Given the description of an element on the screen output the (x, y) to click on. 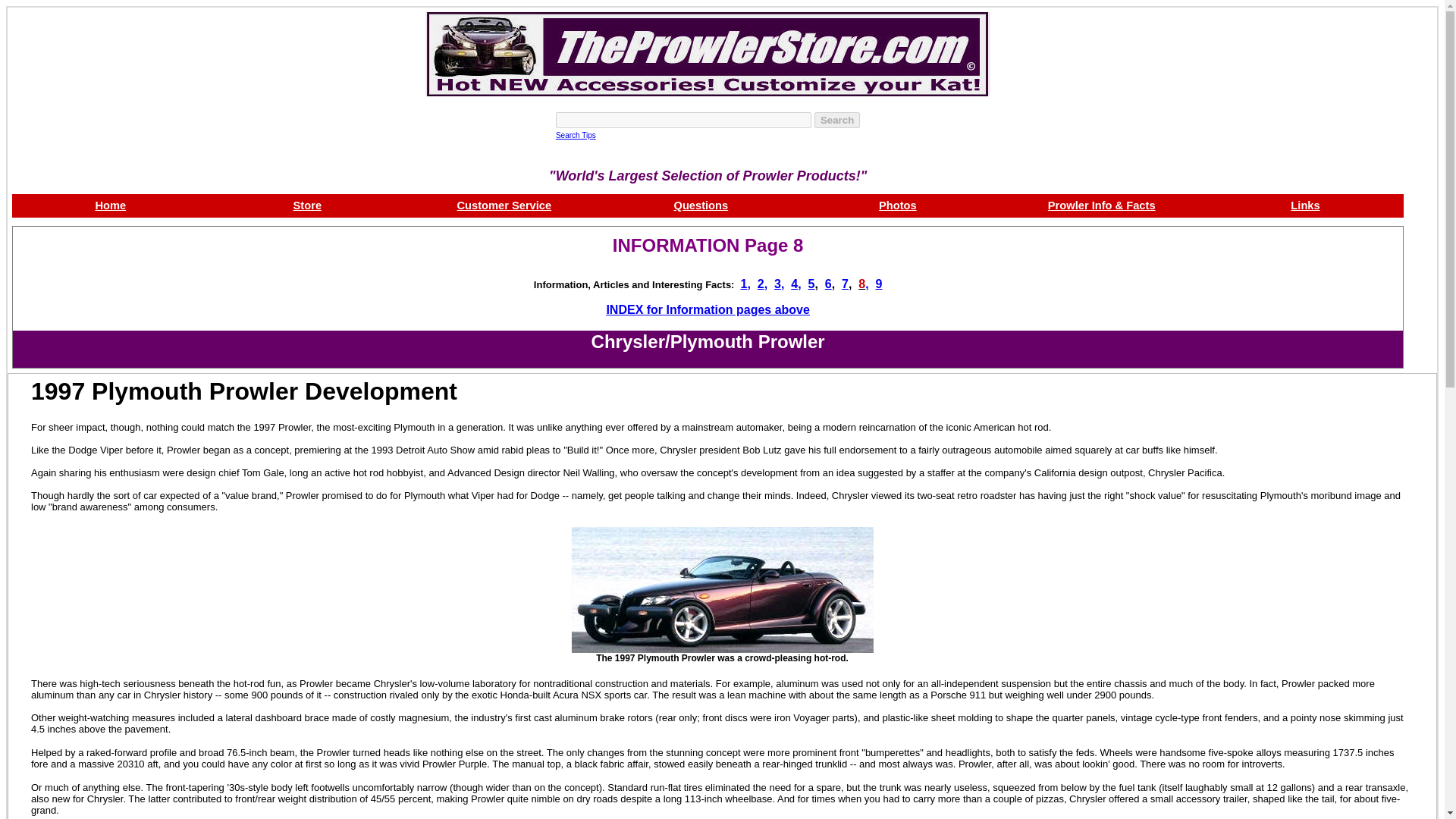
Photos (898, 205)
Chrysler (628, 343)
INDEX for Information pages above (707, 309)
Customer Service (504, 205)
Store (307, 205)
Search (836, 119)
Home (109, 205)
Links (1304, 205)
Search Tips (575, 133)
Questions (701, 205)
